Given the description of an element on the screen output the (x, y) to click on. 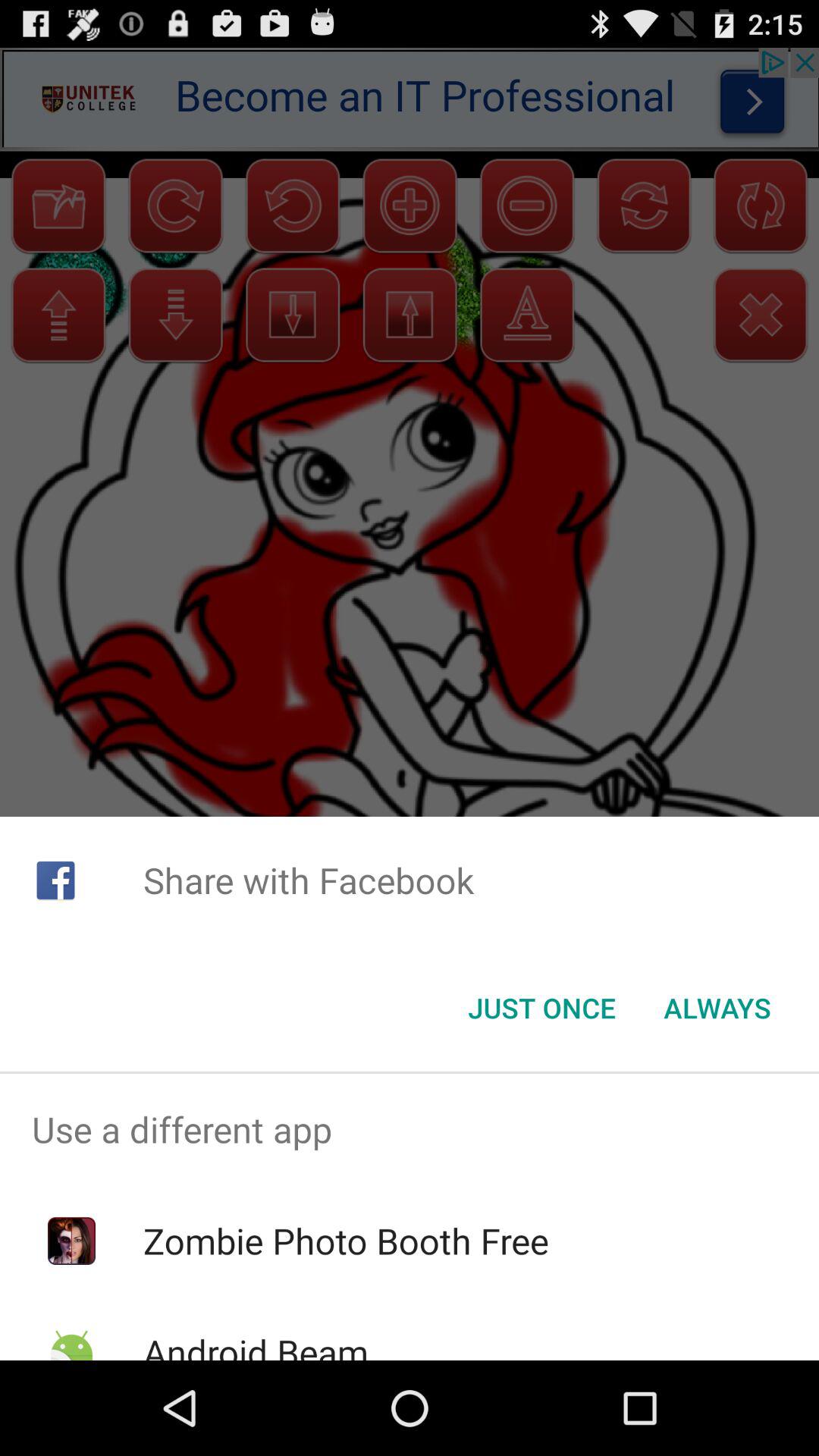
swipe to android beam icon (255, 1344)
